Given the description of an element on the screen output the (x, y) to click on. 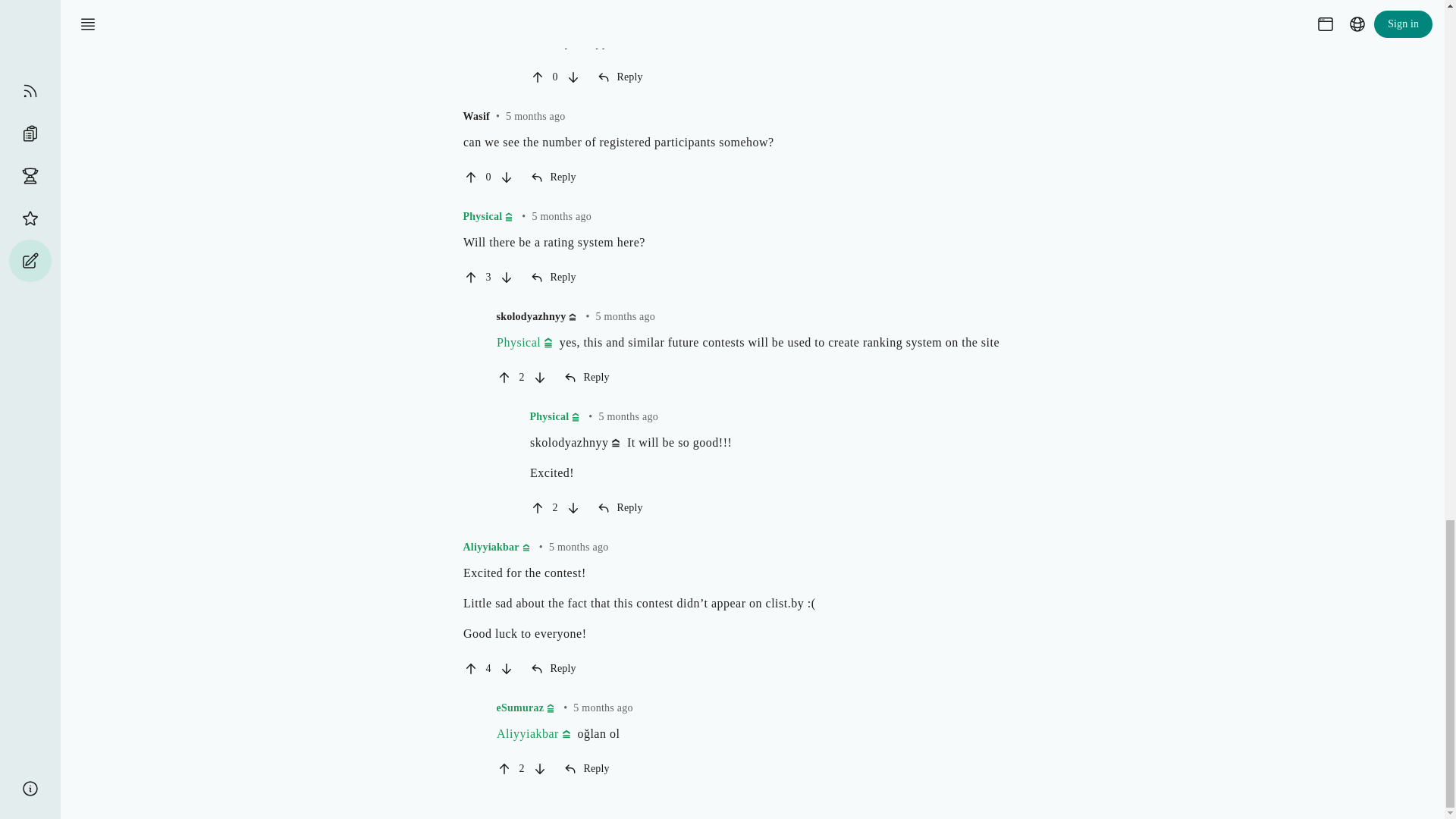
Mar 23, 2024, 7:53:59 AM (561, 215)
Mar 22, 2024, 1:23:41 PM (602, 707)
Mar 23, 2024, 8:16:54 AM (628, 416)
Mar 22, 2024, 1:22:00 PM (578, 546)
Mar 24, 2024, 8:49:20 AM (534, 116)
Mar 24, 2024, 1:01:07 PM (664, 16)
Mar 23, 2024, 8:09:51 AM (625, 316)
